Given the description of an element on the screen output the (x, y) to click on. 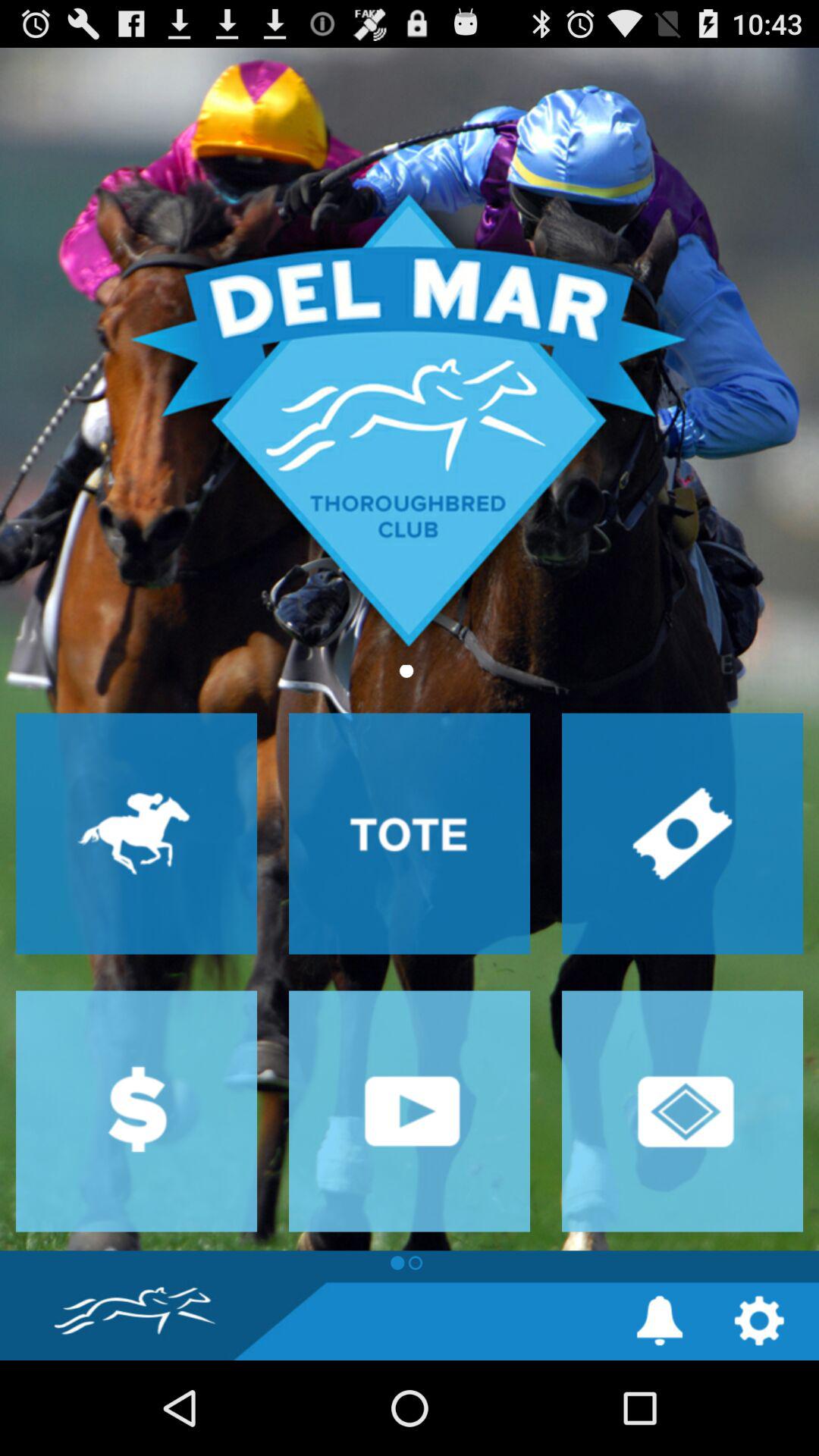
gon tote (409, 833)
